Given the description of an element on the screen output the (x, y) to click on. 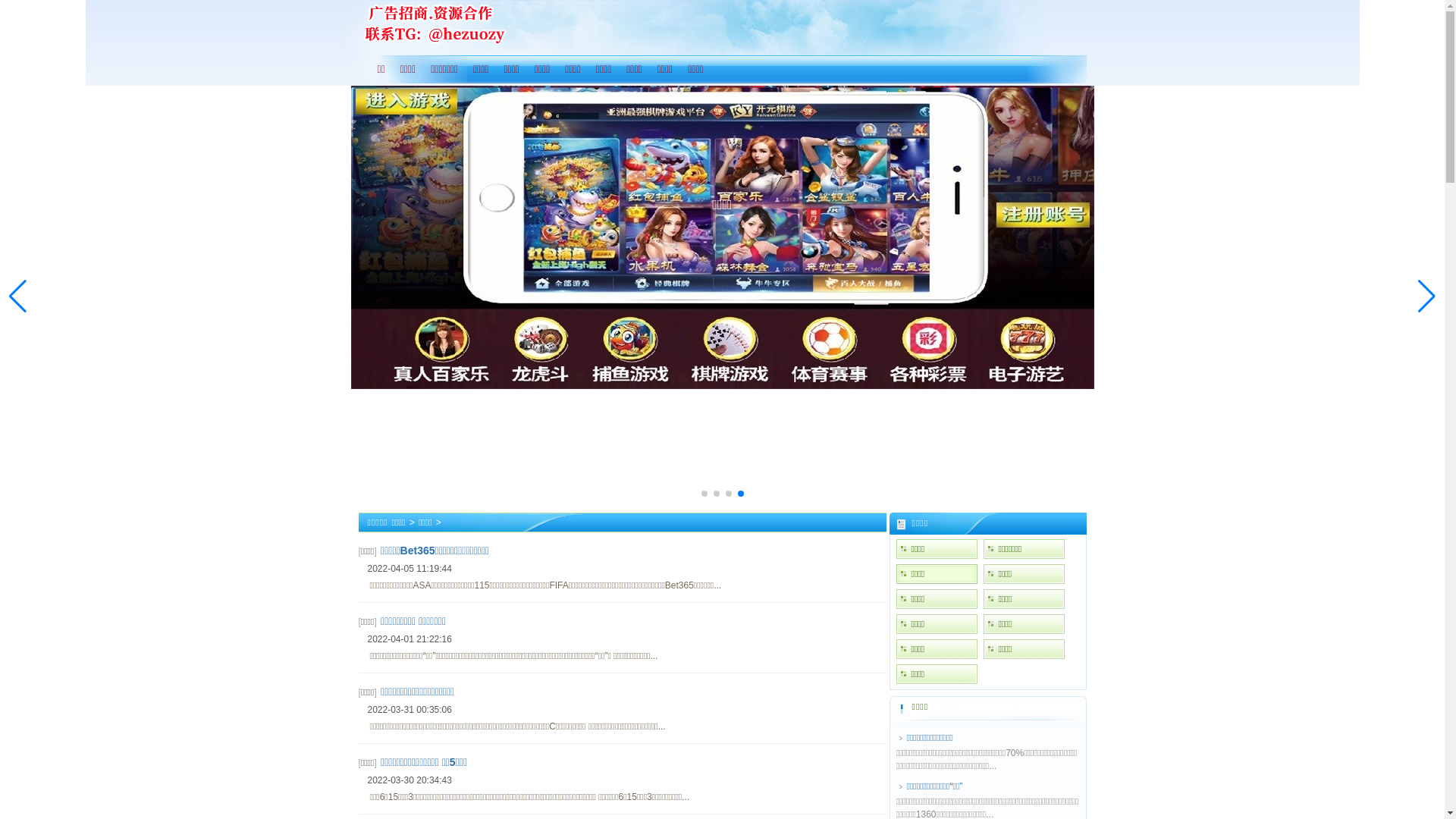
. Element type: text (722, 205)
